Given the description of an element on the screen output the (x, y) to click on. 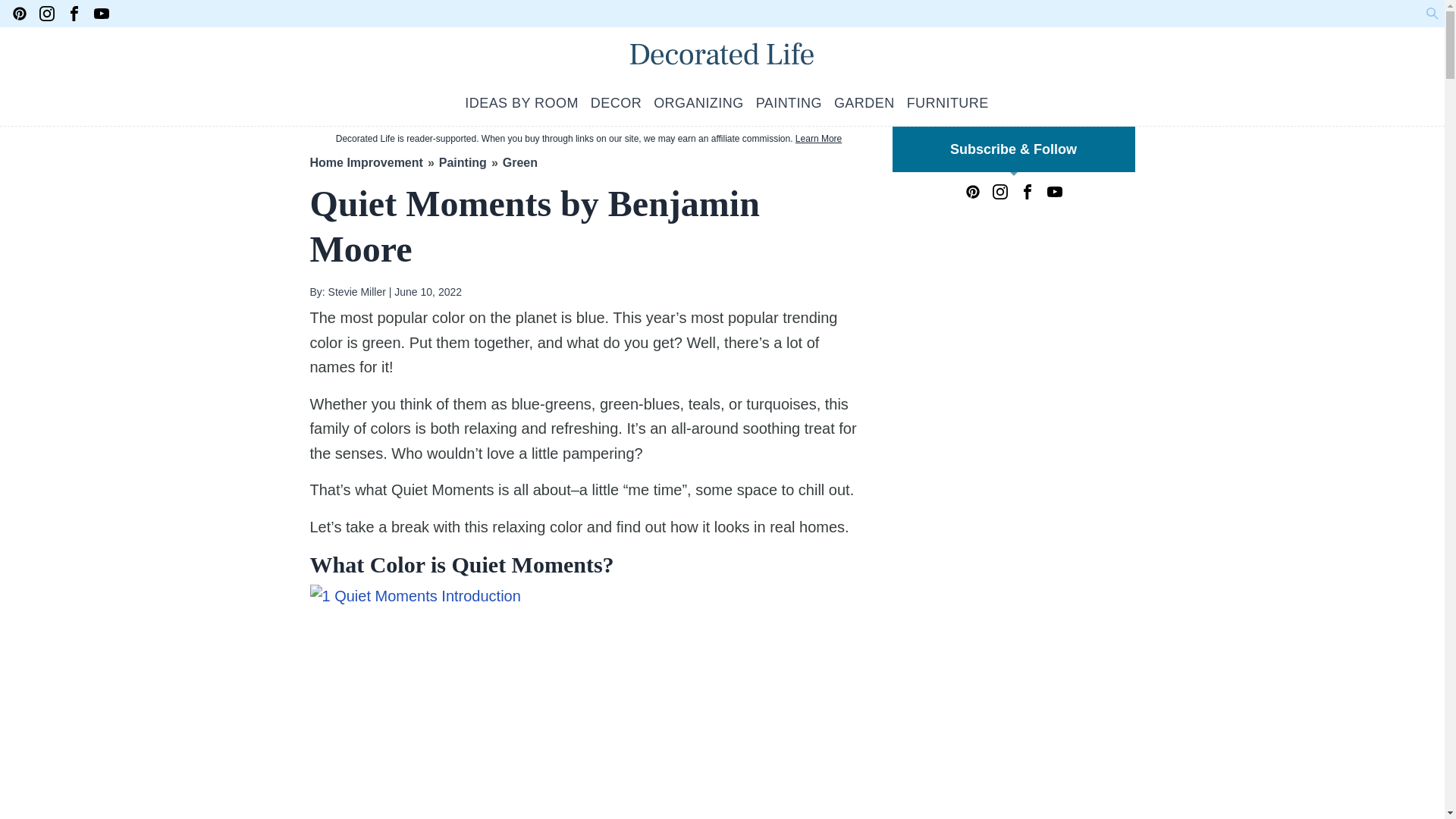
Stevie Miller (354, 291)
Facebook (1026, 191)
ORGANIZING (698, 102)
Home Improvement (365, 162)
Facebook (73, 13)
Instagram (999, 191)
FURNITURE (947, 102)
Youtube (1053, 191)
Pinterest (19, 13)
Pinterest (971, 191)
